Given the description of an element on the screen output the (x, y) to click on. 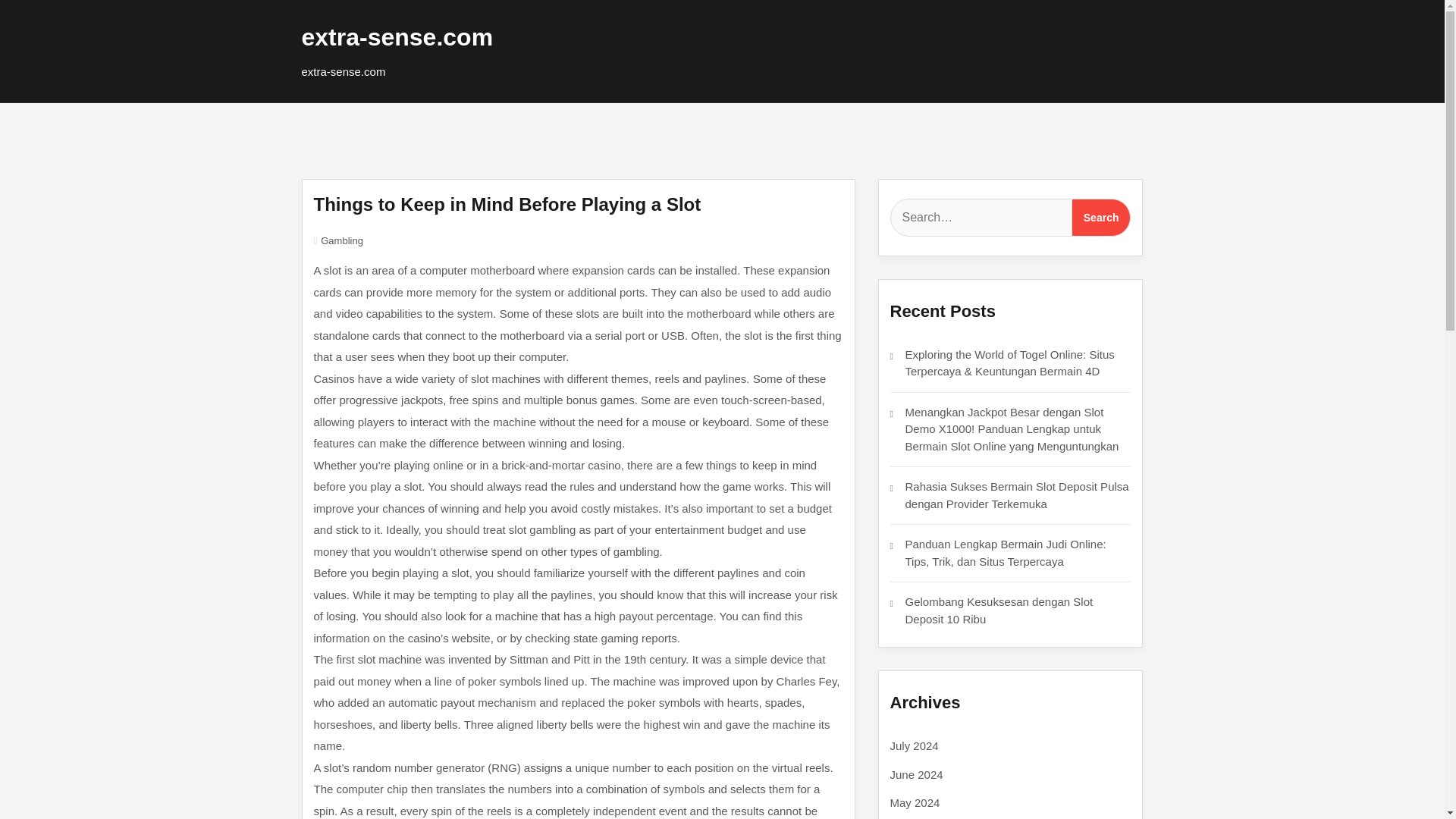
Gelombang Kesuksesan dengan Slot Deposit 10 Ribu (999, 610)
May 2024 (914, 802)
Things to Keep in Mind Before Playing a Slot (507, 204)
July 2024 (914, 745)
Gambling (341, 240)
June 2024 (916, 773)
extra-sense.com (397, 36)
Search (1101, 217)
Search (1101, 217)
